Given the description of an element on the screen output the (x, y) to click on. 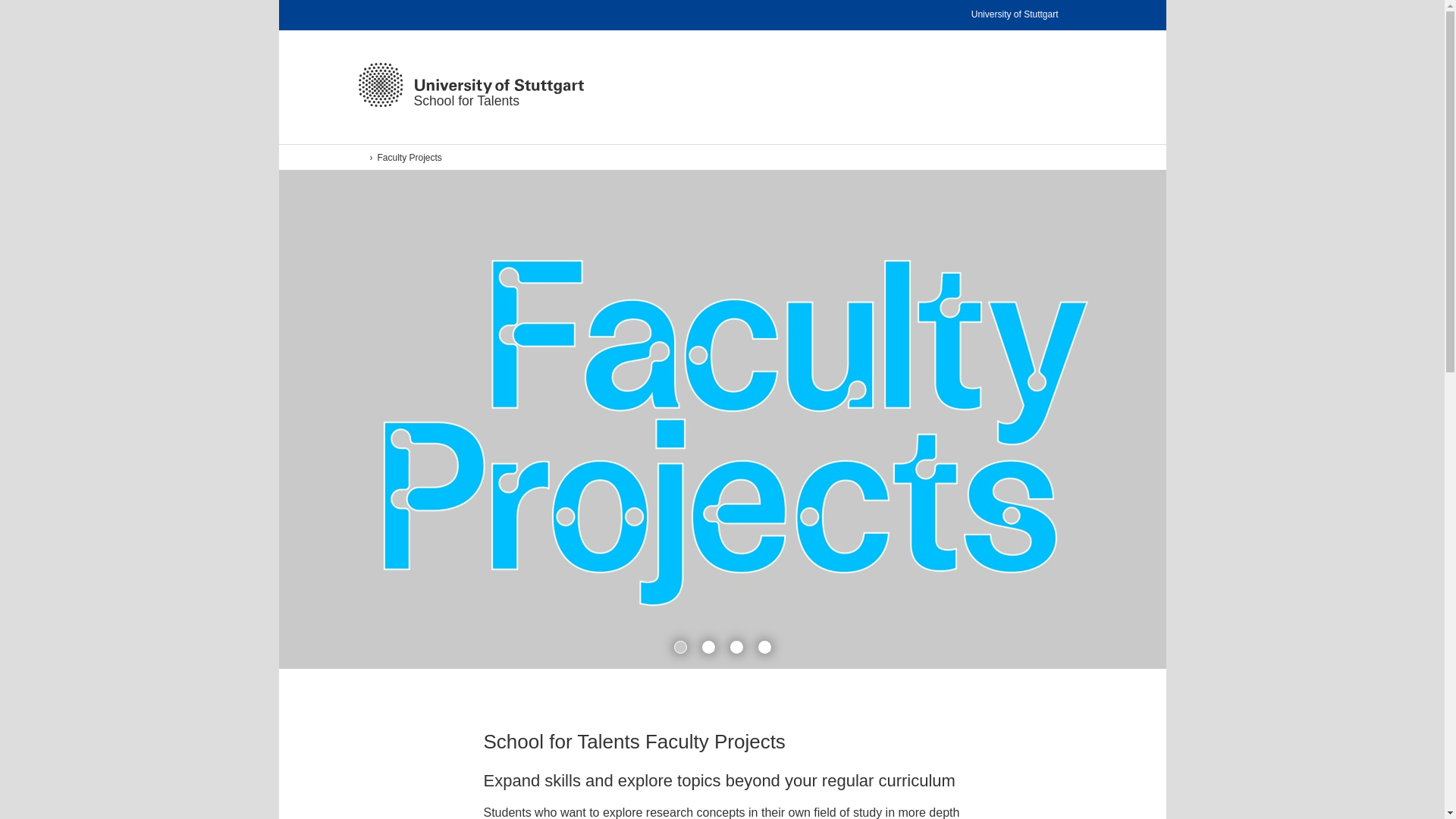
Faculty Projects (722, 156)
School for Talents (415, 156)
University of Stuttgart (470, 84)
Faculty Projects (1026, 15)
Search (413, 156)
Main navigation (1035, 84)
search (417, 156)
